Given the description of an element on the screen output the (x, y) to click on. 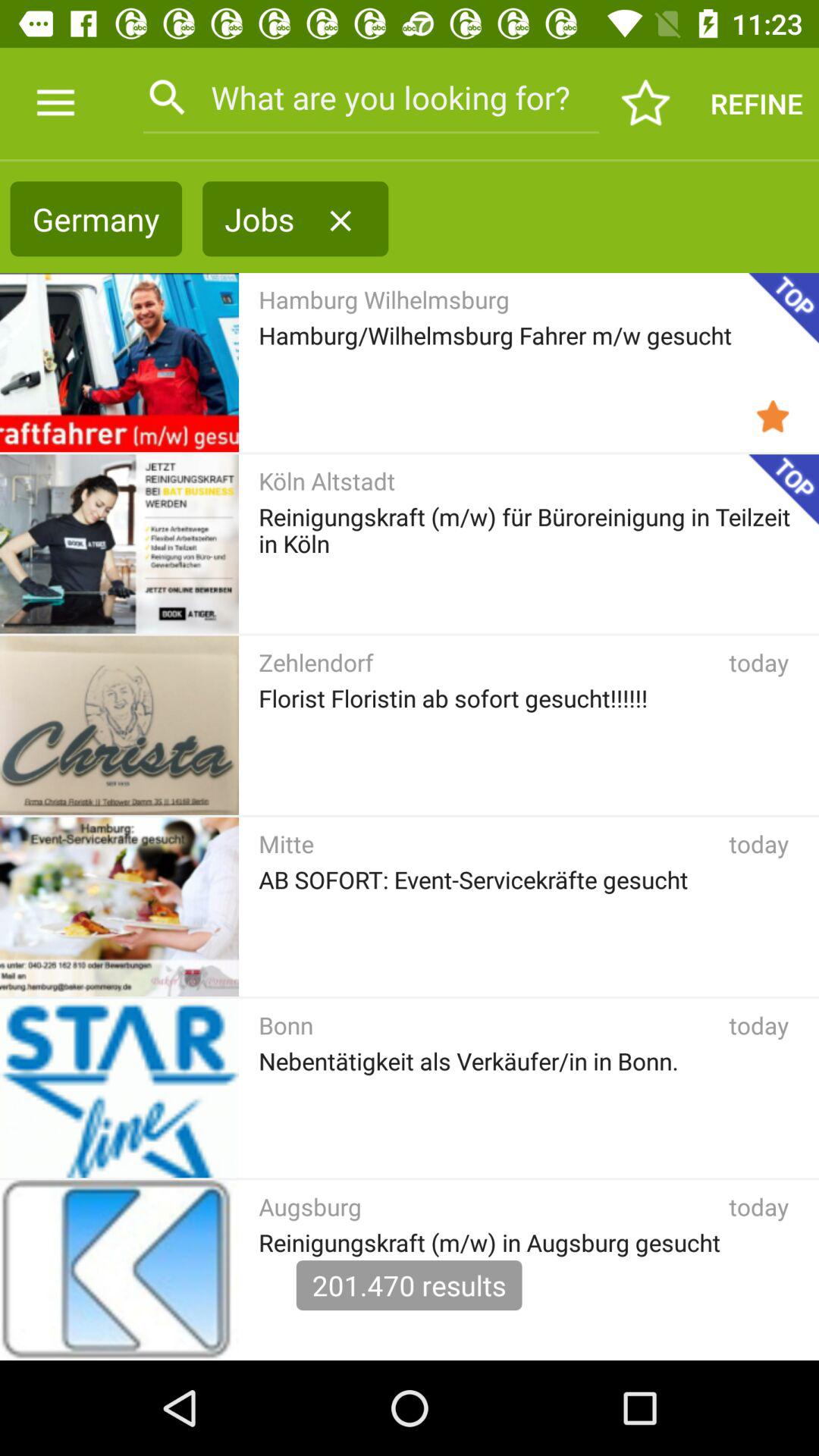
turn off item next to the refine (646, 103)
